Given the description of an element on the screen output the (x, y) to click on. 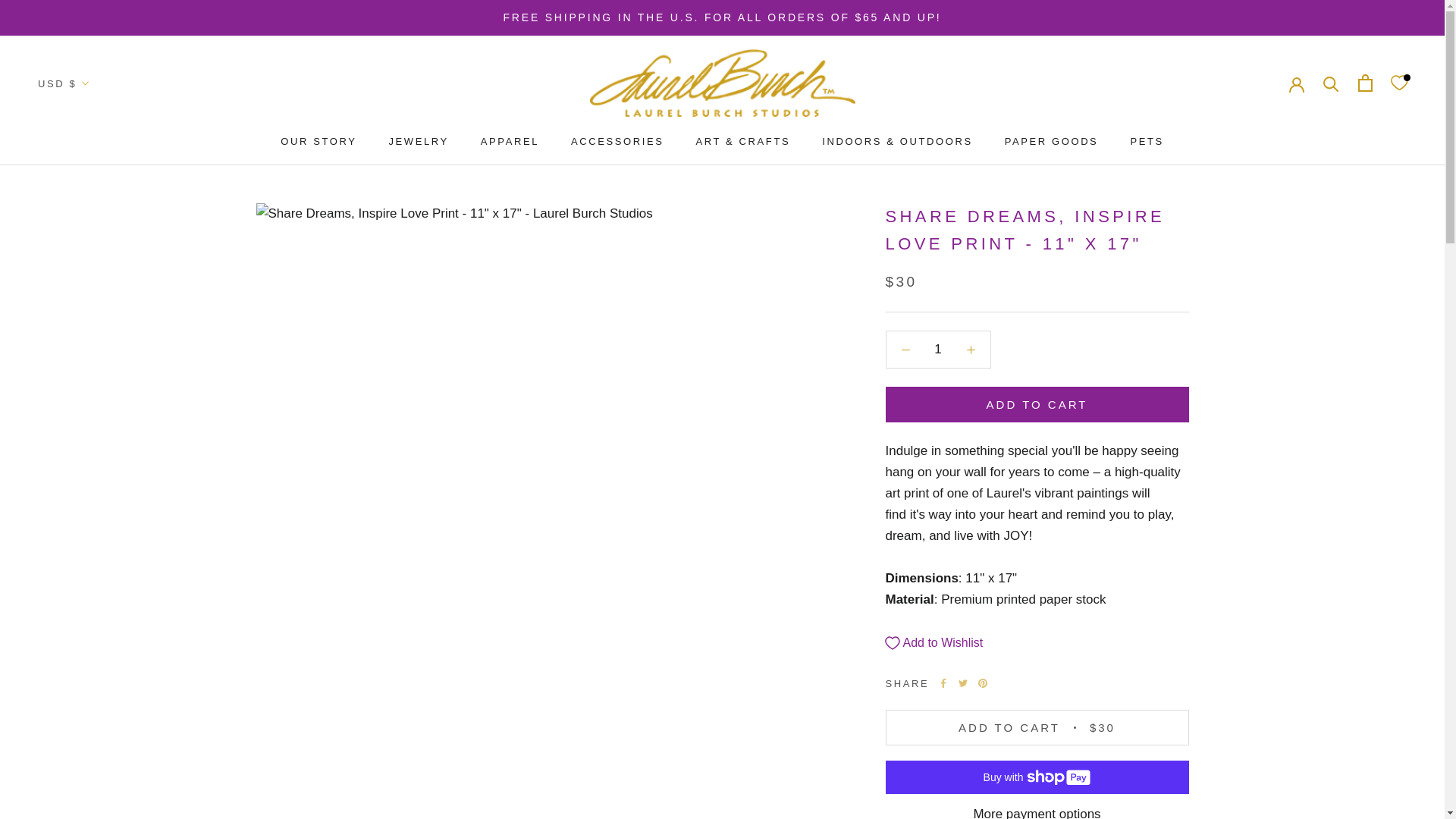
1 (938, 349)
